Given the description of an element on the screen output the (x, y) to click on. 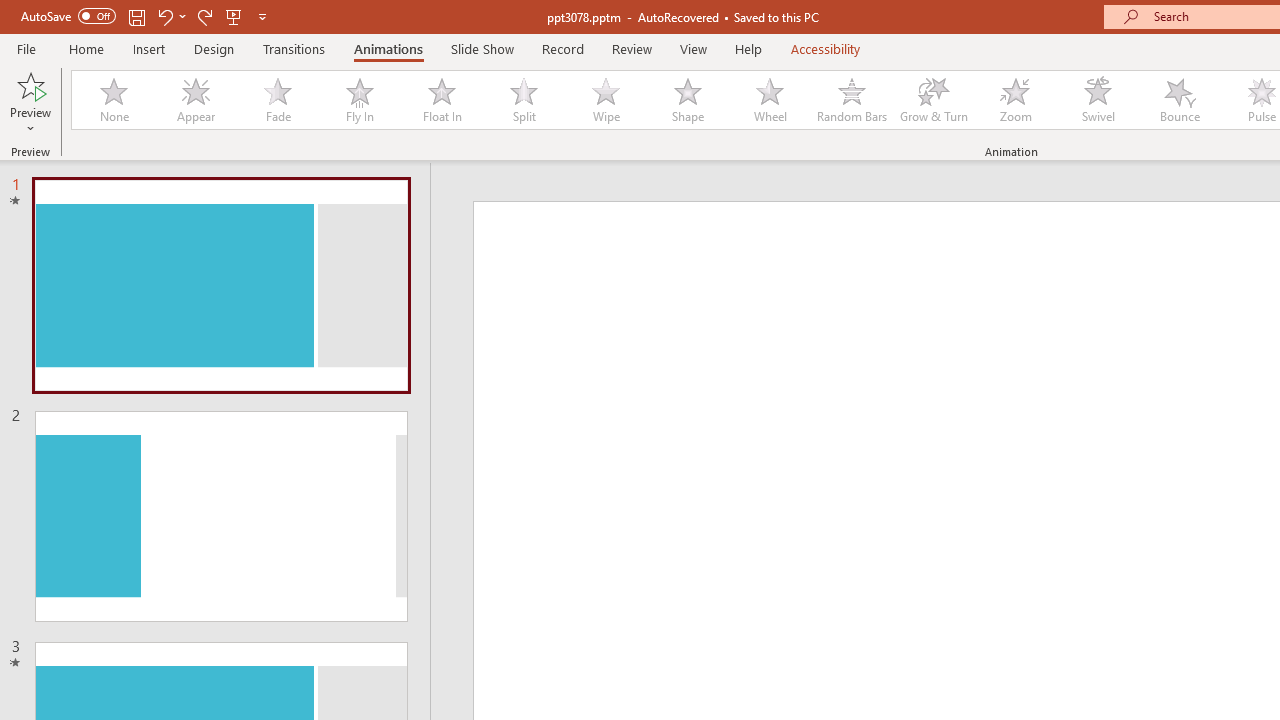
Preview (30, 84)
Slide (221, 515)
Wipe (605, 100)
None (113, 100)
Random Bars (852, 100)
Bounce (1180, 100)
Fly In (359, 100)
Swivel (1098, 100)
